Given the description of an element on the screen output the (x, y) to click on. 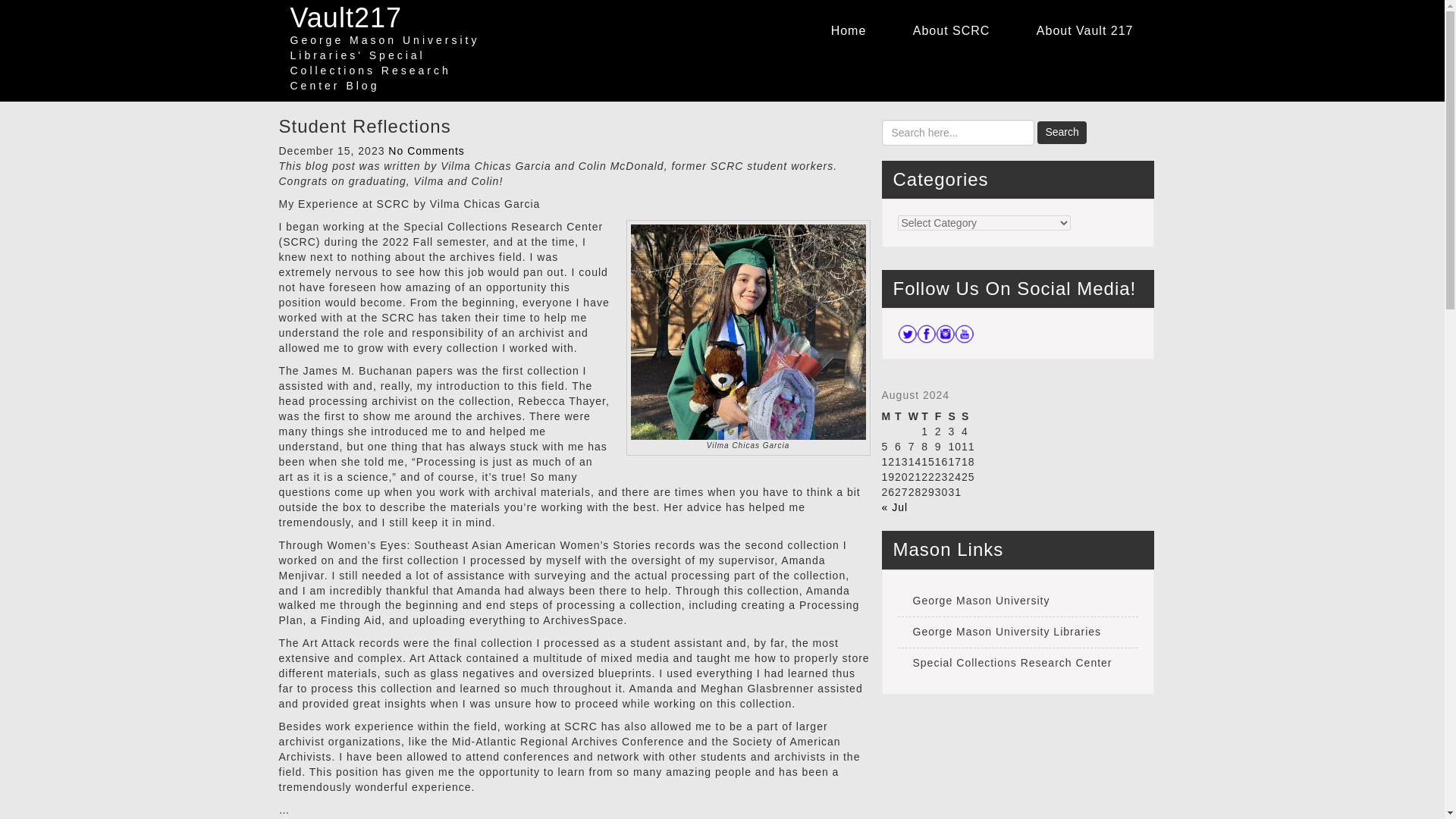
George Mason University (1018, 601)
Wednesday (914, 417)
No Comments (426, 150)
Vault217 (345, 17)
Monday (887, 417)
Twitter (907, 333)
Tuesday (901, 417)
Special Collections Research Center (1018, 663)
Thursday (927, 417)
Search (1061, 132)
